Given the description of an element on the screen output the (x, y) to click on. 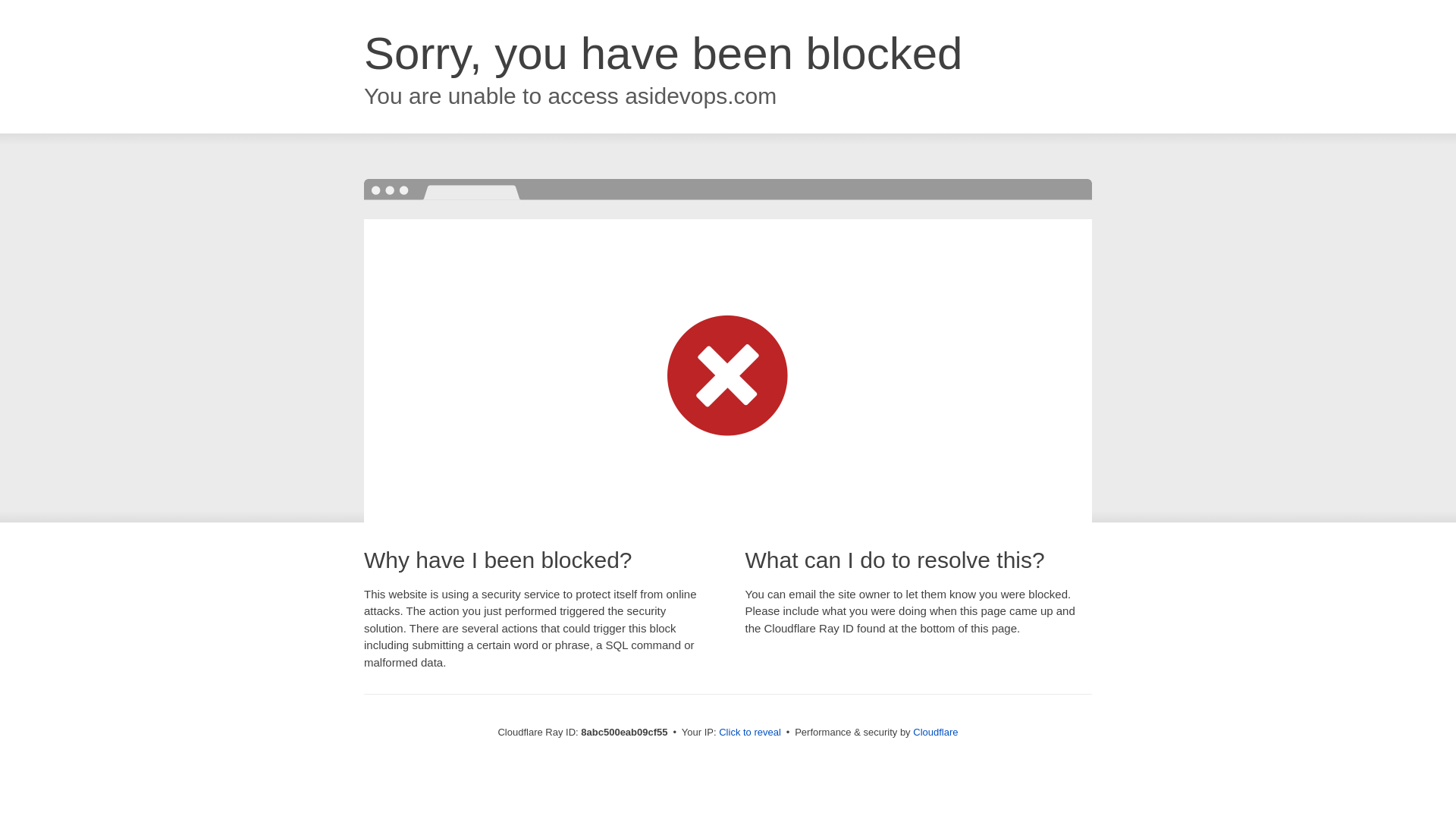
Cloudflare (935, 731)
Click to reveal (749, 732)
